Given the description of an element on the screen output the (x, y) to click on. 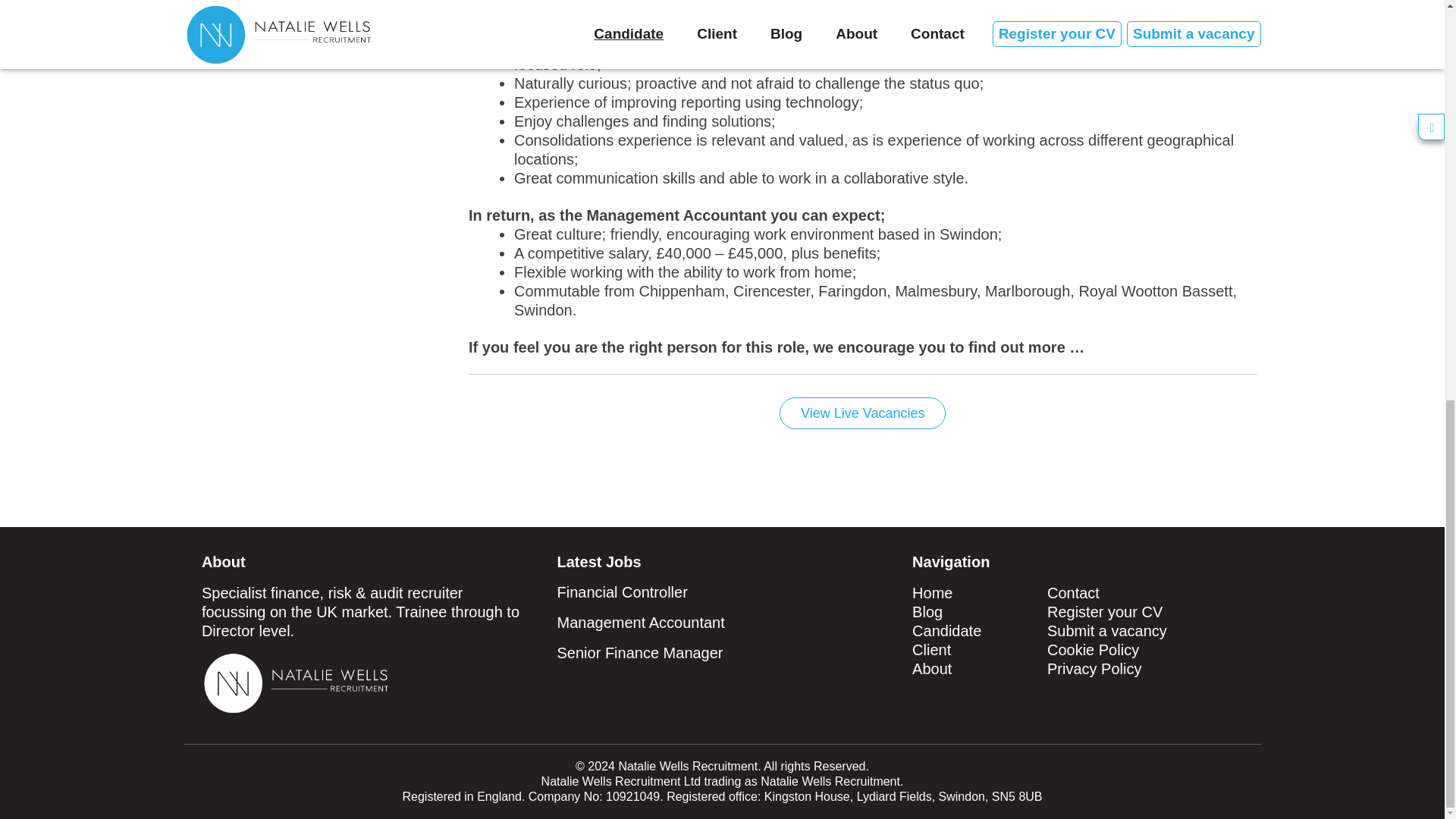
Client (931, 649)
Privacy Policy (1093, 668)
Submit a vacancy (1106, 630)
Home (932, 592)
Cookie Policy (1092, 649)
Register your CV (1103, 611)
Natalie Wells Recruitment (932, 592)
Candidate (946, 630)
Management Accountant (641, 622)
Senior Finance Manager (640, 652)
Financial Controller (622, 591)
Contact (1072, 592)
Candidate (946, 630)
About (932, 668)
Contact Natalie Wells (1072, 592)
